Given the description of an element on the screen output the (x, y) to click on. 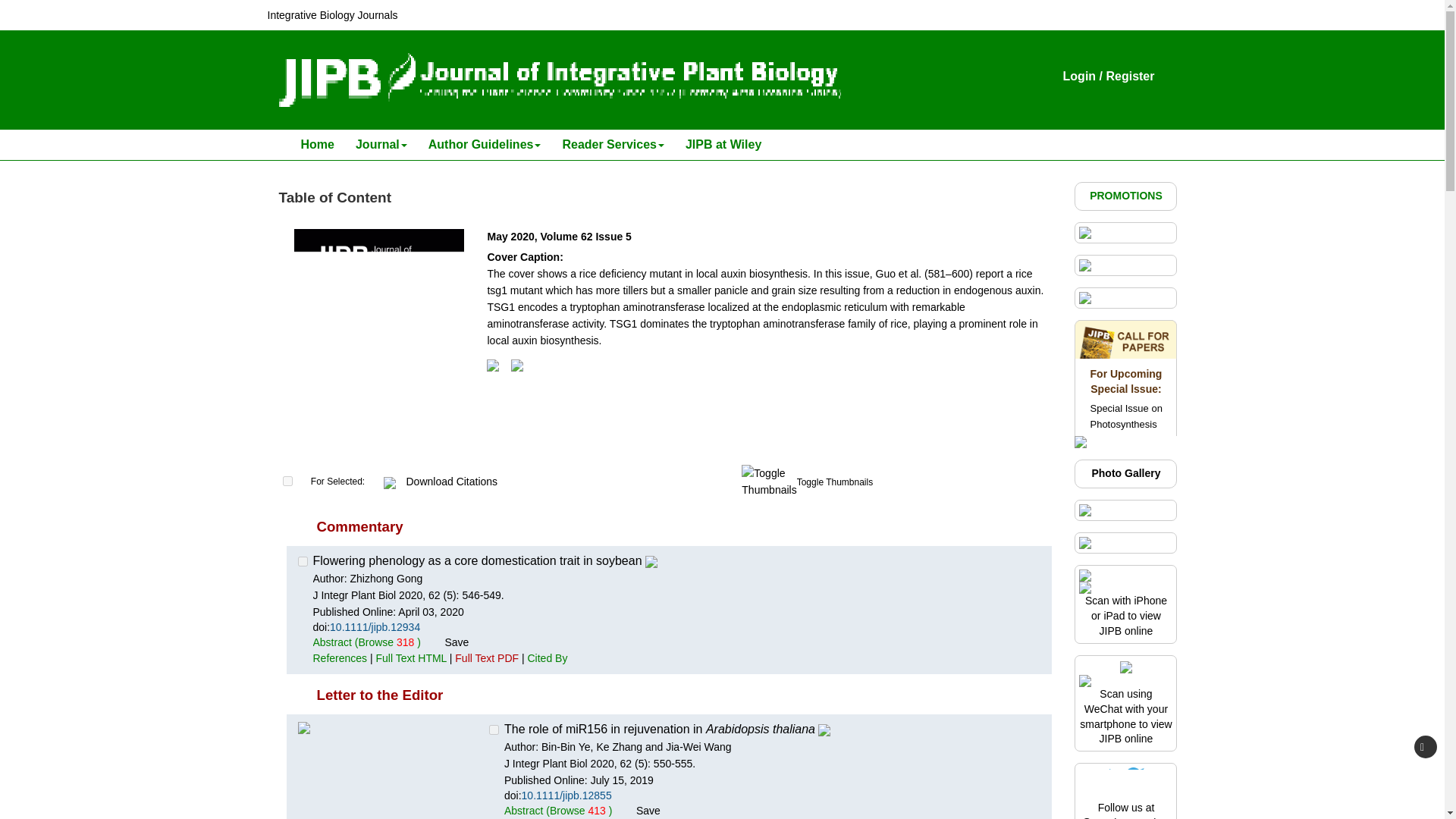
60550 (302, 561)
60045 (494, 729)
Register (1129, 75)
Integrative Biology Journals (331, 15)
Login (1079, 75)
Home (316, 144)
Reader Services (613, 144)
on (287, 480)
Toggle Thumbnails (768, 481)
Download Citations (451, 481)
Toggle Thumbnails (834, 481)
Journal (381, 144)
Author Guidelines (484, 144)
JIPB at Wiley (723, 144)
